Given the description of an element on the screen output the (x, y) to click on. 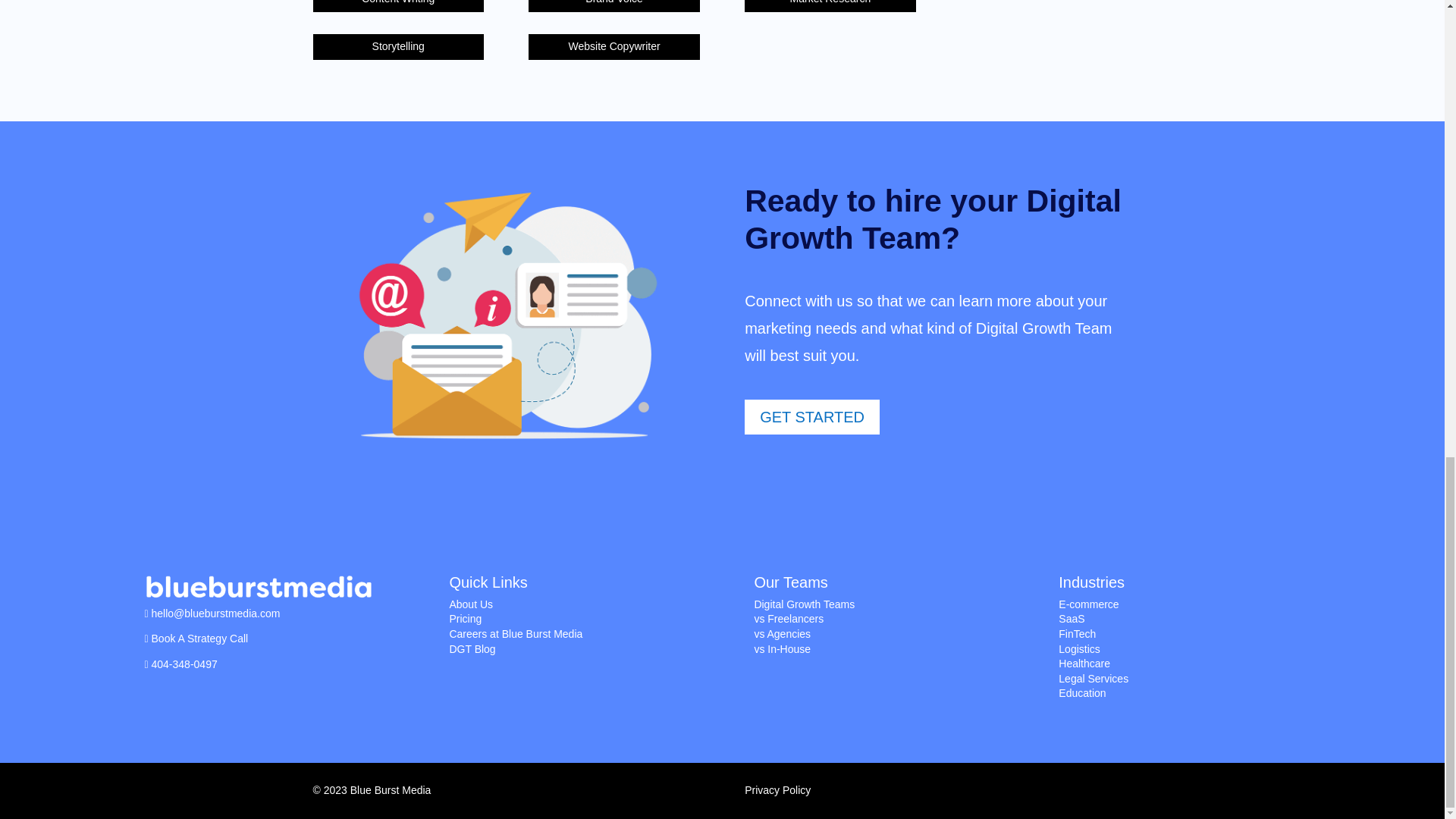
DGT Blog (471, 648)
vs Freelancers (789, 618)
Careers at Blue Burst Media (515, 633)
GET STARTED (811, 416)
About Us (470, 604)
Book A Strategy Call (199, 638)
Pricing (464, 618)
contact-vector (505, 317)
Contact Blue Burst Media (216, 613)
404-348-0497 (183, 664)
